Given the description of an element on the screen output the (x, y) to click on. 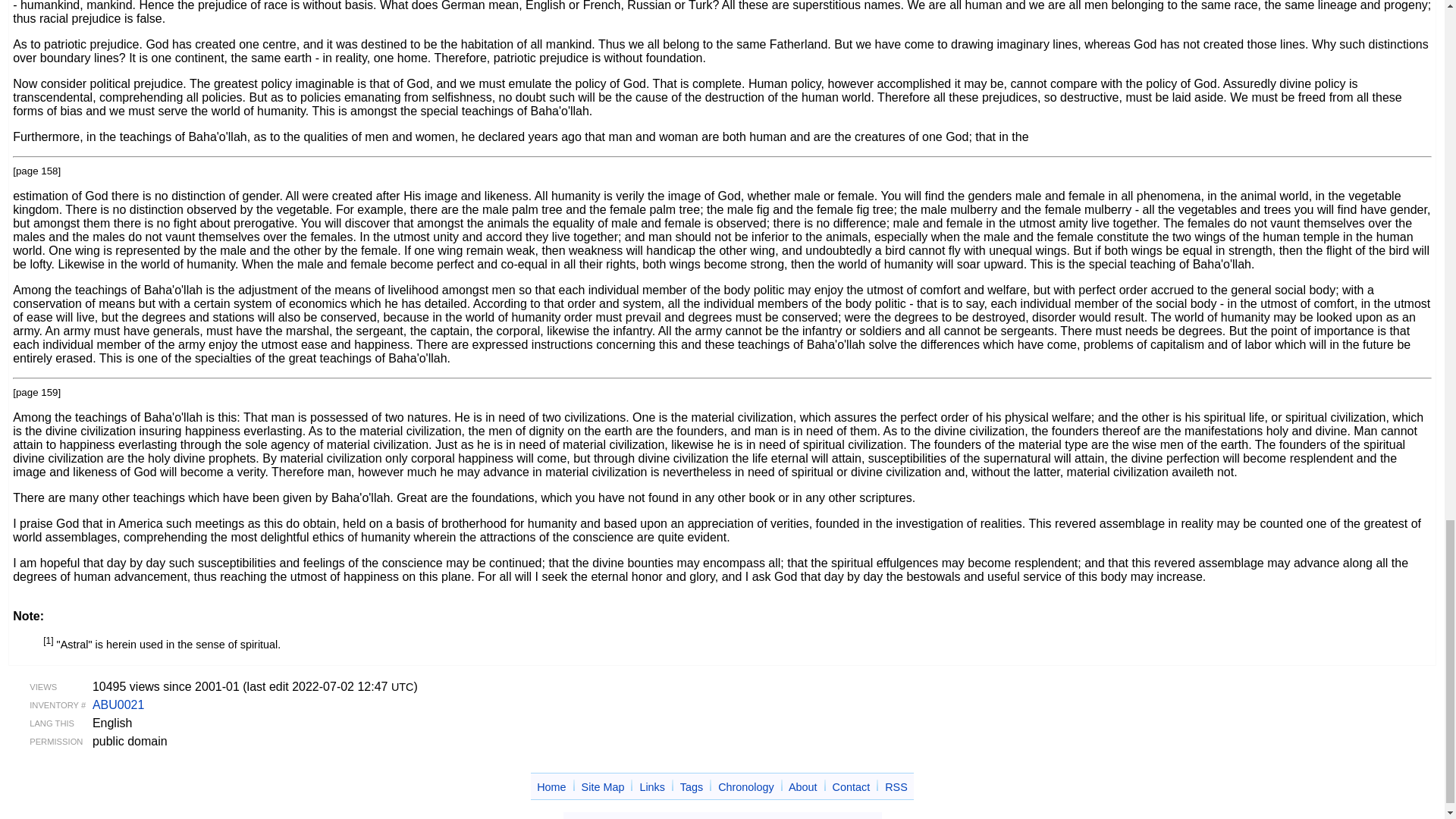
Chronology (745, 787)
Links (652, 787)
Tags (691, 787)
Contact (851, 787)
Home (551, 787)
ABU0021 (118, 704)
About (802, 787)
RSS (896, 787)
Site Map (602, 787)
